Given the description of an element on the screen output the (x, y) to click on. 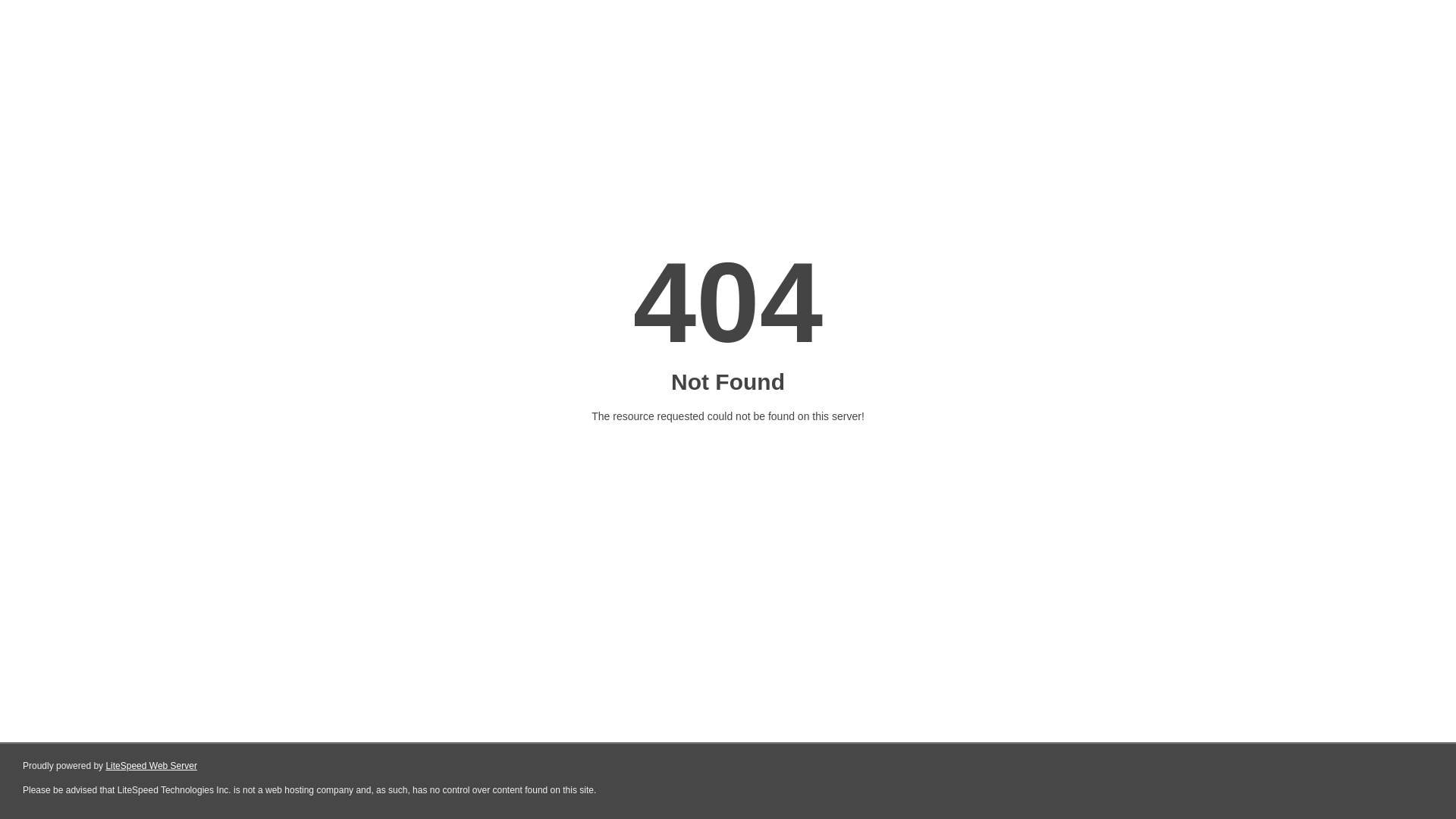
LiteSpeed Web Server Element type: text (151, 765)
